Given the description of an element on the screen output the (x, y) to click on. 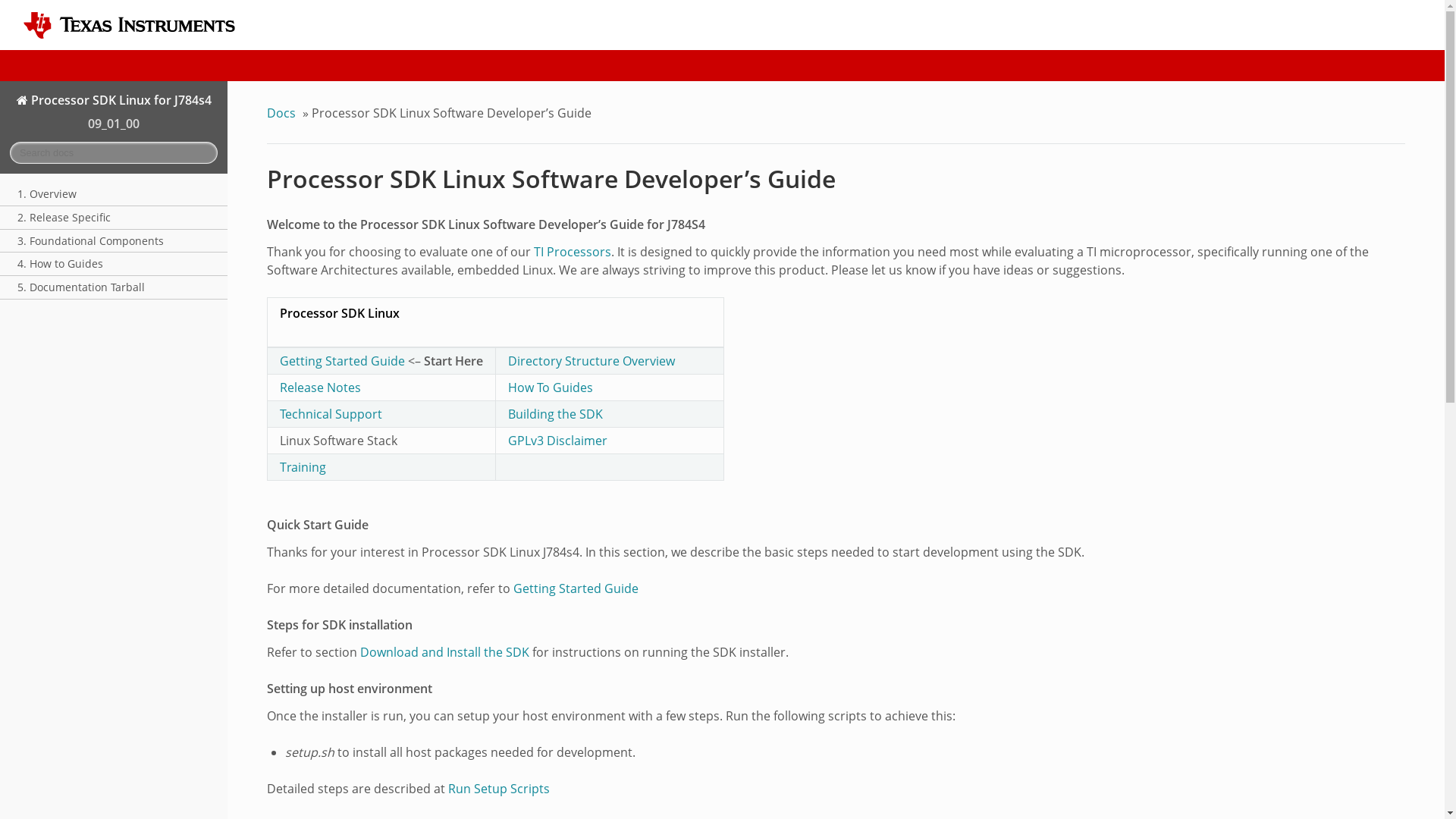
2. Release Specific (113, 218)
Run Setup Scripts (499, 788)
1. Overview (113, 195)
Directory Structure Overview (591, 360)
Building the SDK (555, 413)
5. Documentation Tarball (113, 287)
4. How to Guides (113, 264)
Training (302, 466)
Docs (282, 112)
TI Processors (572, 251)
